Given the description of an element on the screen output the (x, y) to click on. 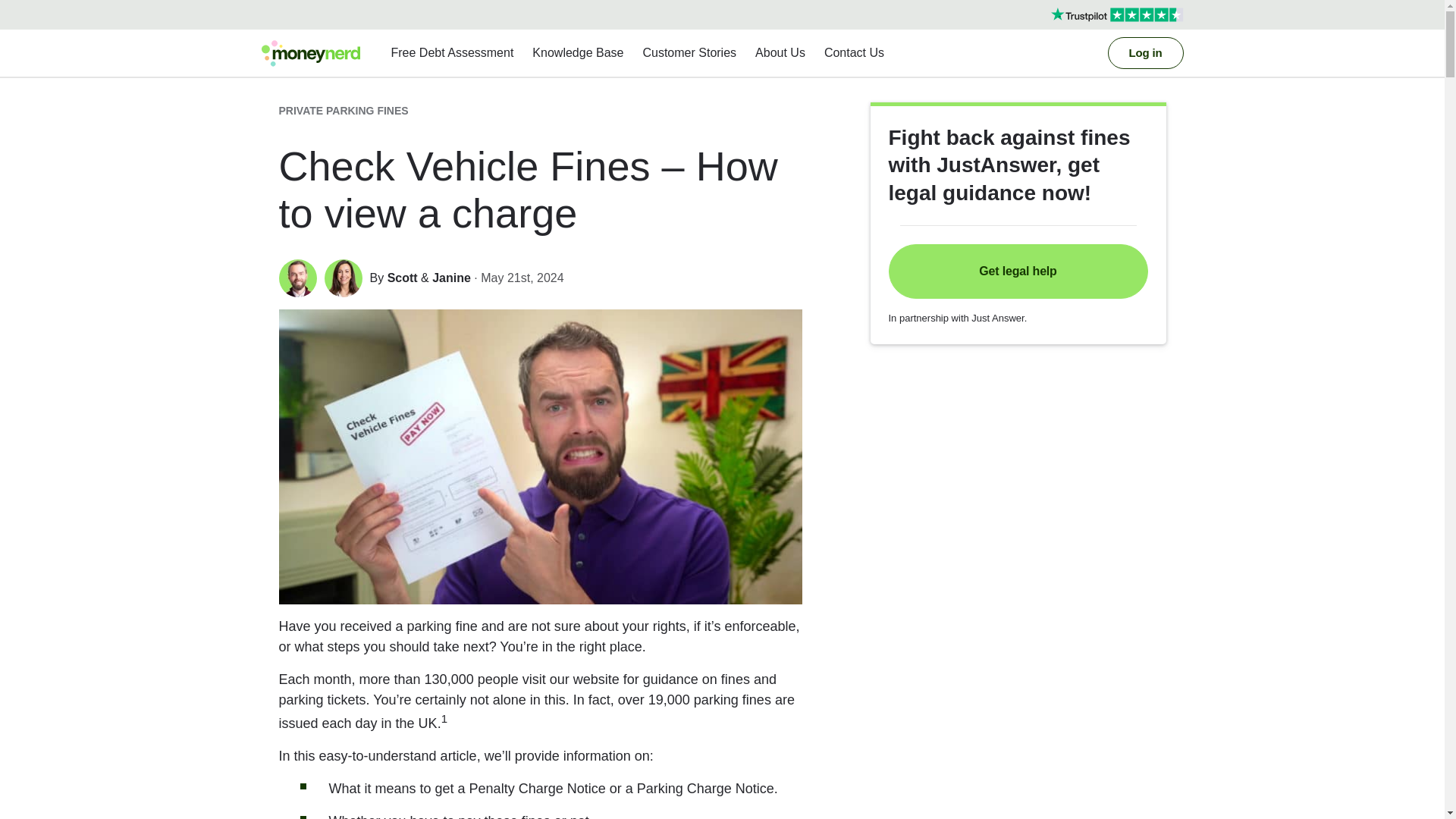
Customer Stories (689, 53)
About Us (780, 53)
Free Debt Assessment (452, 53)
Contact Us (853, 53)
Log in (1144, 52)
Knowledge Base (577, 53)
